Given the description of an element on the screen output the (x, y) to click on. 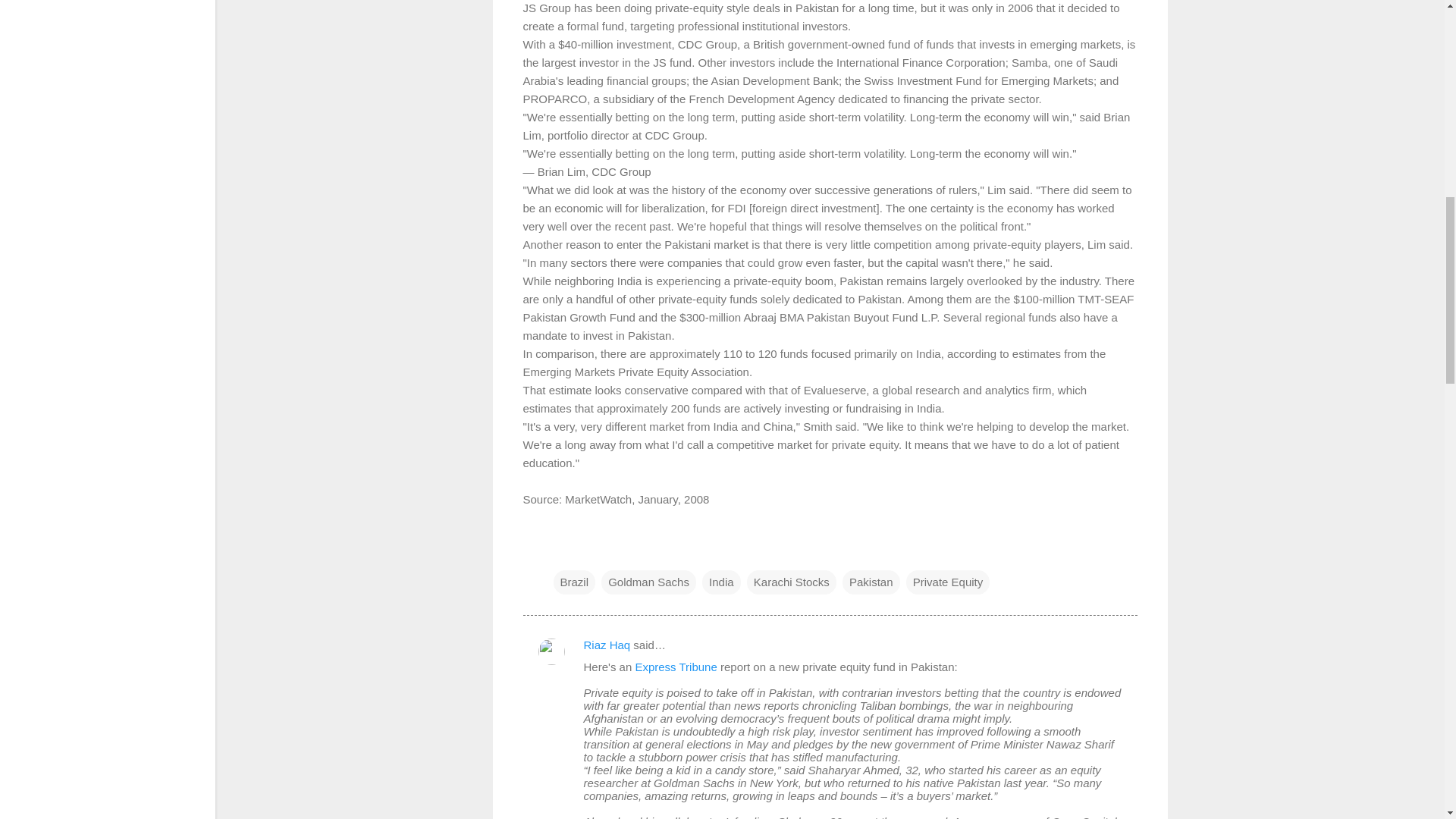
India (721, 582)
Email Post (562, 550)
Riaz Haq (606, 644)
Express Tribune (675, 666)
Private Equity (947, 582)
Karachi Stocks (790, 582)
Pakistan (871, 582)
Brazil (574, 582)
Goldman Sachs (648, 582)
